Given the description of an element on the screen output the (x, y) to click on. 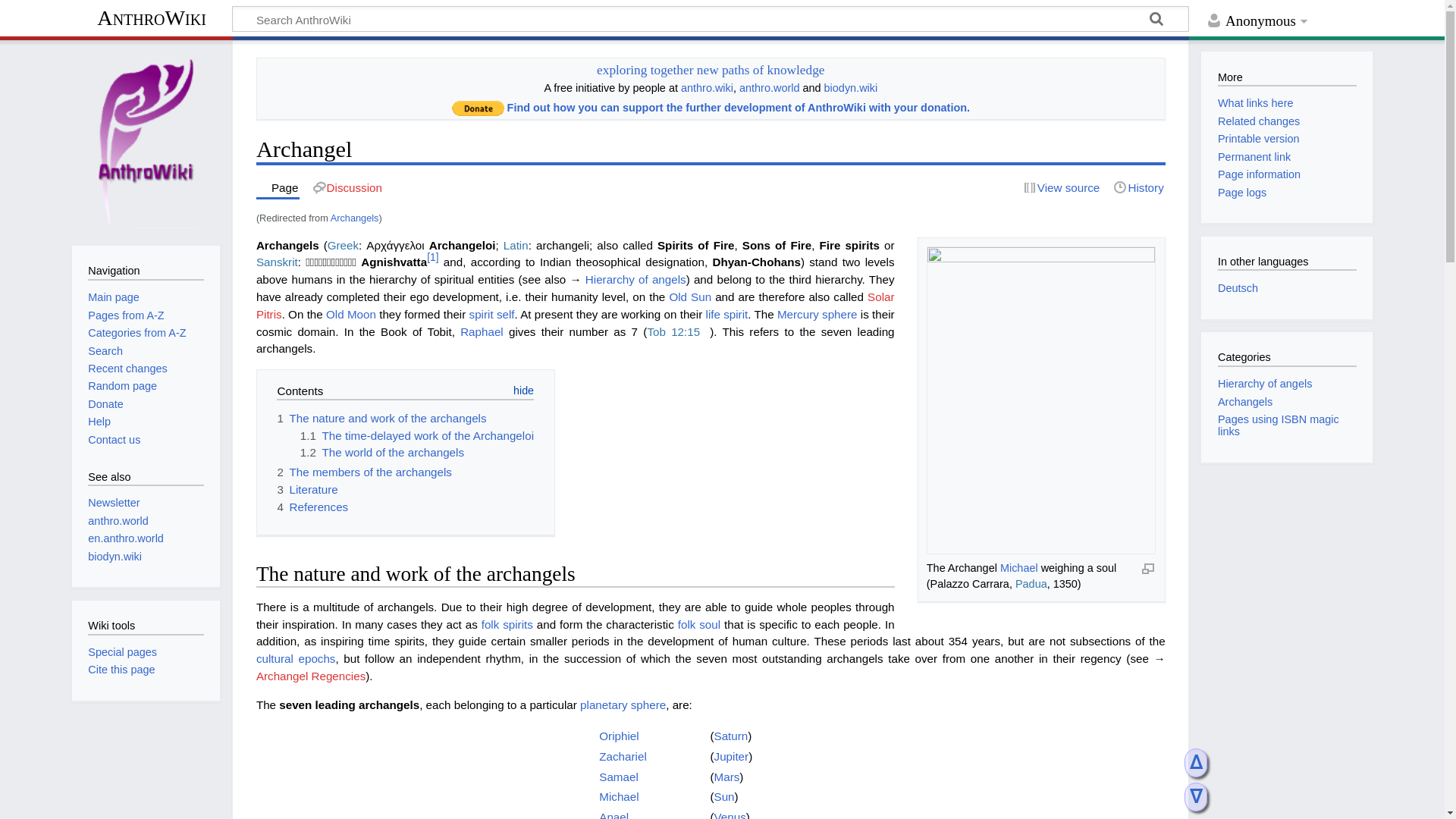
AnthroWiki (151, 19)
1.2 The world of the archangels (381, 451)
Search (1155, 21)
anthro.world (769, 87)
biodyn.wiki (850, 87)
Search (1155, 21)
Padua (1030, 583)
Sanskrit (277, 261)
Search (1155, 21)
Go (1155, 21)
